Given the description of an element on the screen output the (x, y) to click on. 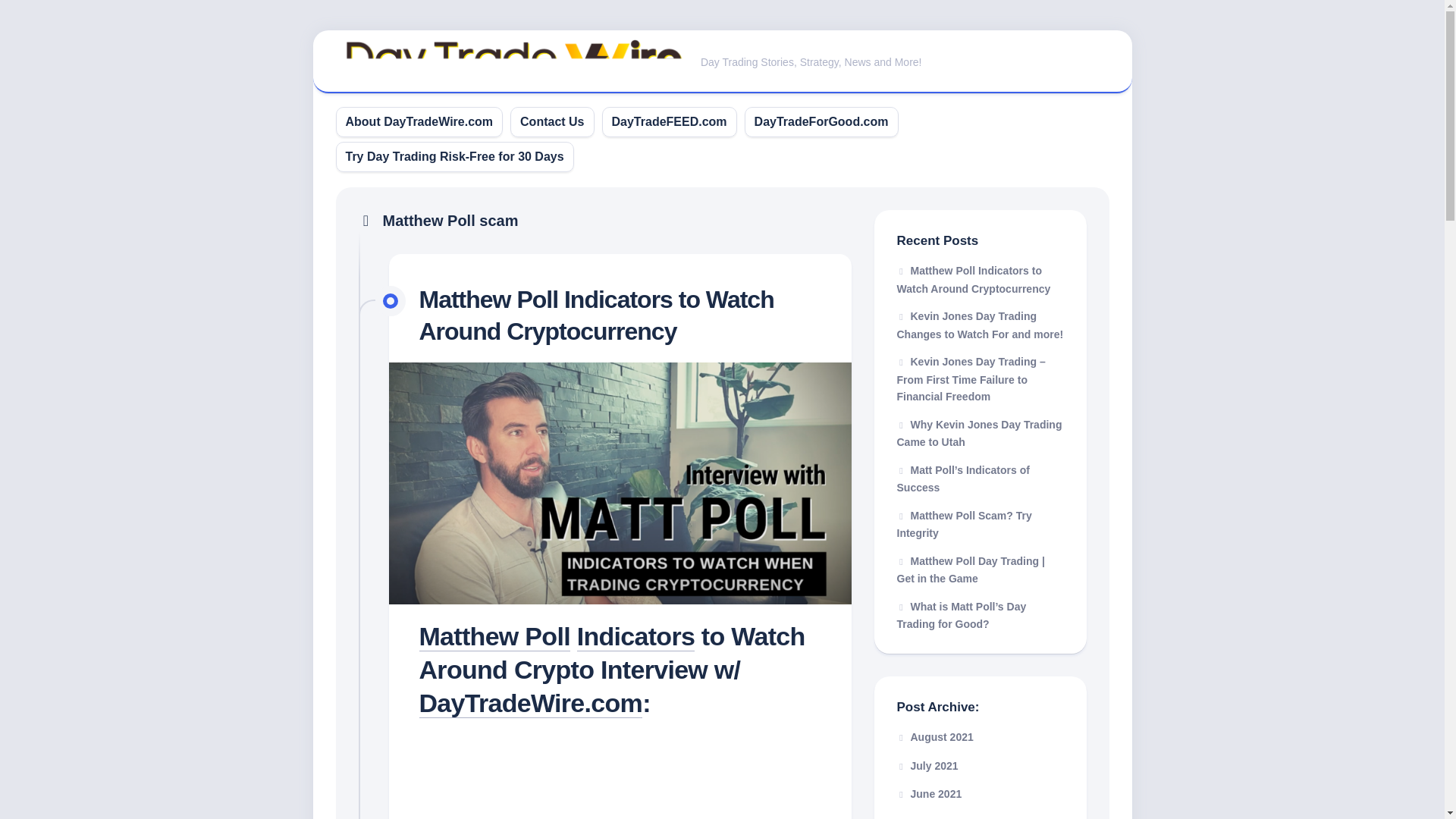
Day Trading Stories, Strategy, News and More! (722, 62)
Matthew Poll Indicators to Watch Around Cryptocurrency (596, 314)
DayTradeWire.com (530, 702)
Matthew Poll (494, 635)
Indicators (635, 635)
DayTradeFEED.com (668, 121)
YouTube video player (620, 774)
Kevin Jones Day Trading Changes to Watch For and more! (979, 325)
DayTradeForGood.com (821, 121)
Contact Us (551, 121)
Try Day Trading Risk-Free for 30 Days (455, 156)
Matthew Poll Indicators to Watch Around Cryptocurrency (972, 279)
About DayTradeWire.com (419, 121)
